Given the description of an element on the screen output the (x, y) to click on. 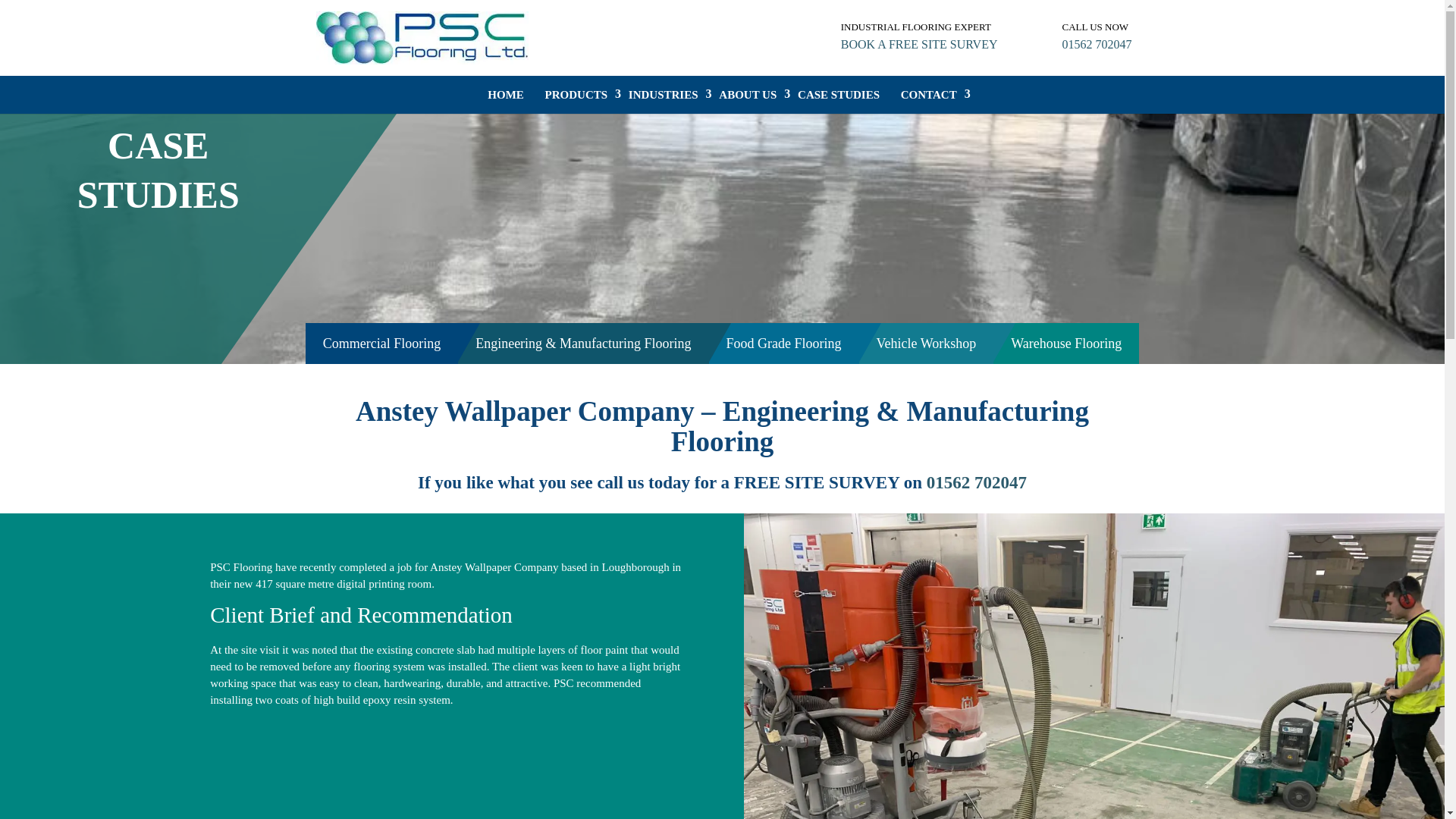
CONTACT (928, 94)
01562 702047 (1096, 43)
HOME (505, 94)
CASE STUDIES (838, 94)
PRODUCTS (576, 94)
Food Grade Flooring (784, 342)
ABOUT US (747, 94)
BOOK A FREE SITE SURVEY (919, 43)
Commercial Flooring (381, 342)
INDUSTRIES (663, 94)
